Given the description of an element on the screen output the (x, y) to click on. 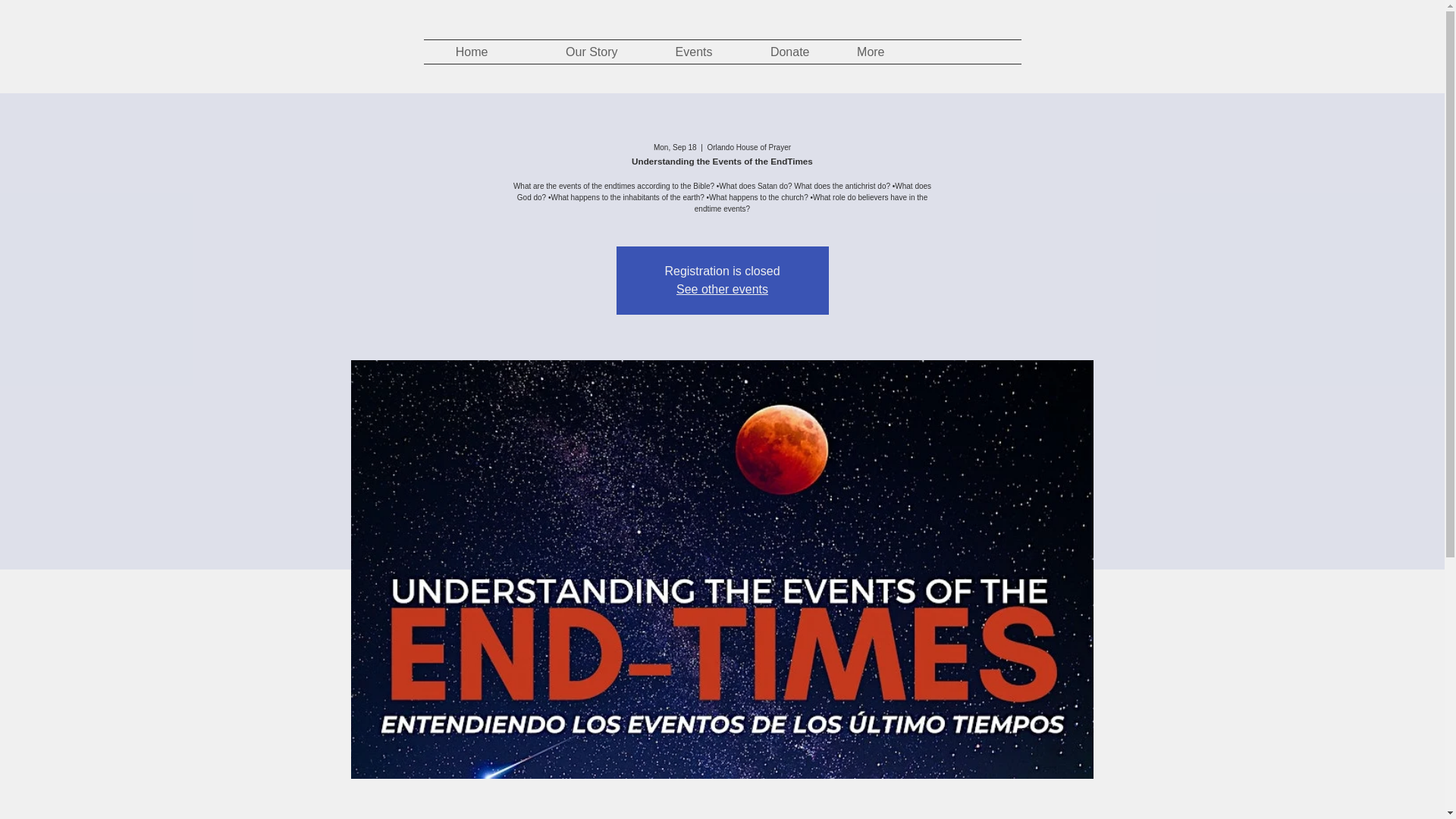
Events (675, 51)
See other events (722, 288)
Donate (772, 51)
Home (461, 51)
Our Story (563, 51)
